Given the description of an element on the screen output the (x, y) to click on. 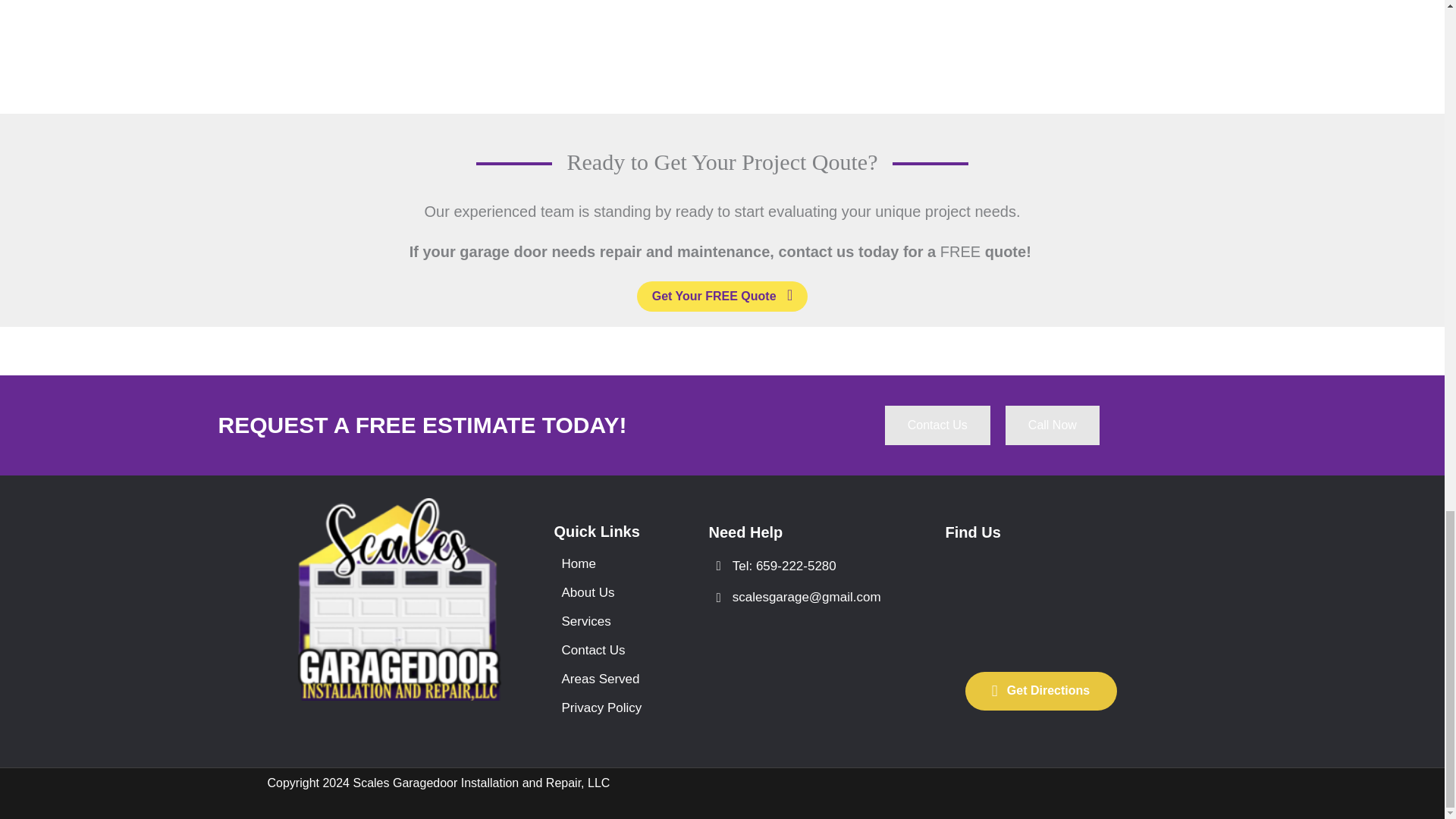
Contact Us (607, 650)
Tel: 659-222-5280 (803, 566)
Home (607, 563)
About Us (607, 592)
Get Your FREE Quote (722, 296)
Areas Served (607, 678)
logo (399, 599)
Get Directions (1039, 690)
Services (607, 621)
Contact Us (937, 425)
Call Now (1052, 425)
Privacy Policy (607, 707)
